Given the description of an element on the screen output the (x, y) to click on. 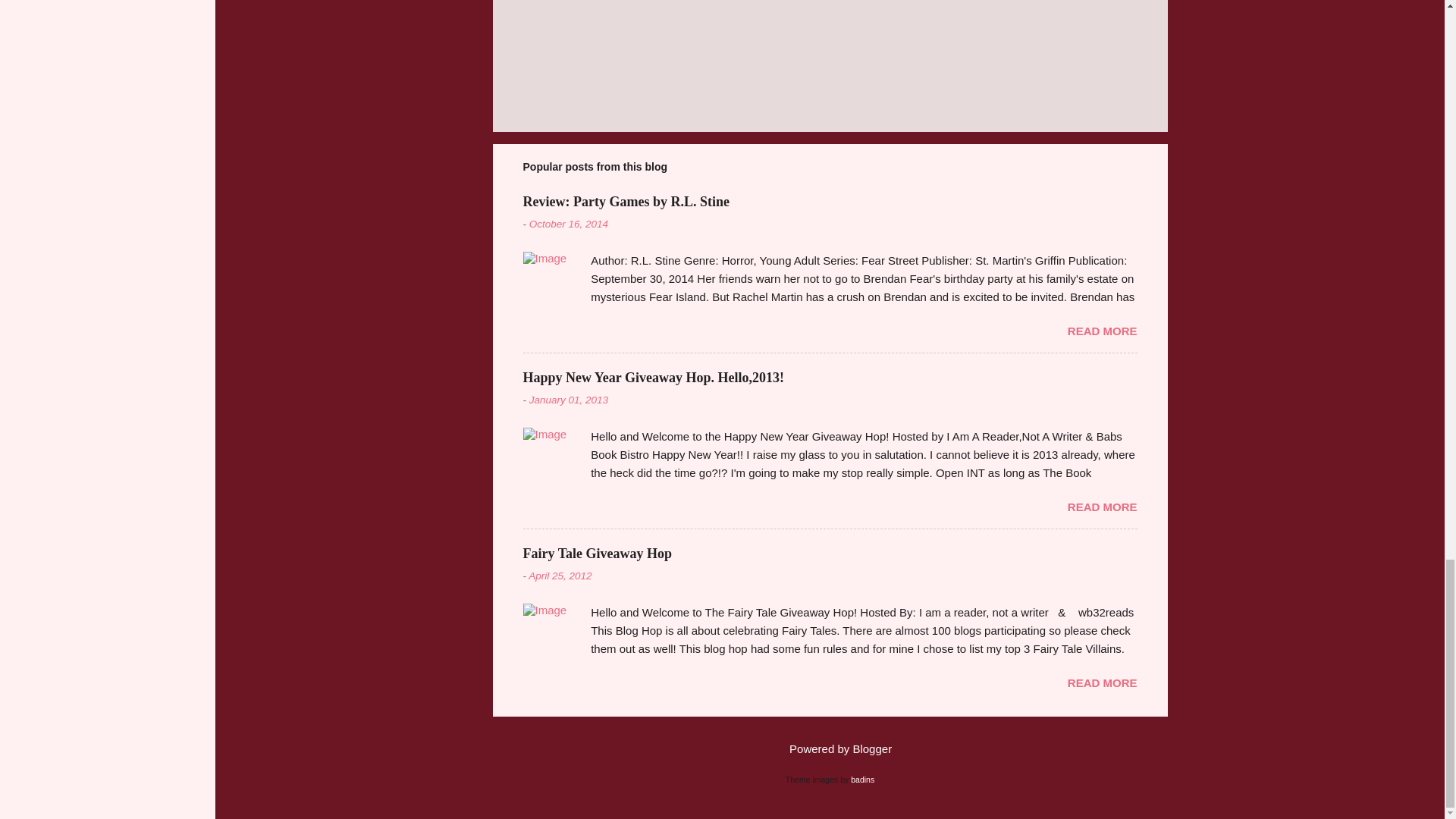
Review: Party Games by R.L. Stine (625, 201)
Happy New Year Giveaway Hop. Hello,2013! (653, 377)
permanent link (568, 224)
READ MORE (1102, 330)
April 25, 2012 (559, 575)
October 16, 2014 (568, 224)
Fairy Tale Giveaway Hop (597, 553)
READ MORE (1102, 506)
January 01, 2013 (568, 399)
